Given the description of an element on the screen output the (x, y) to click on. 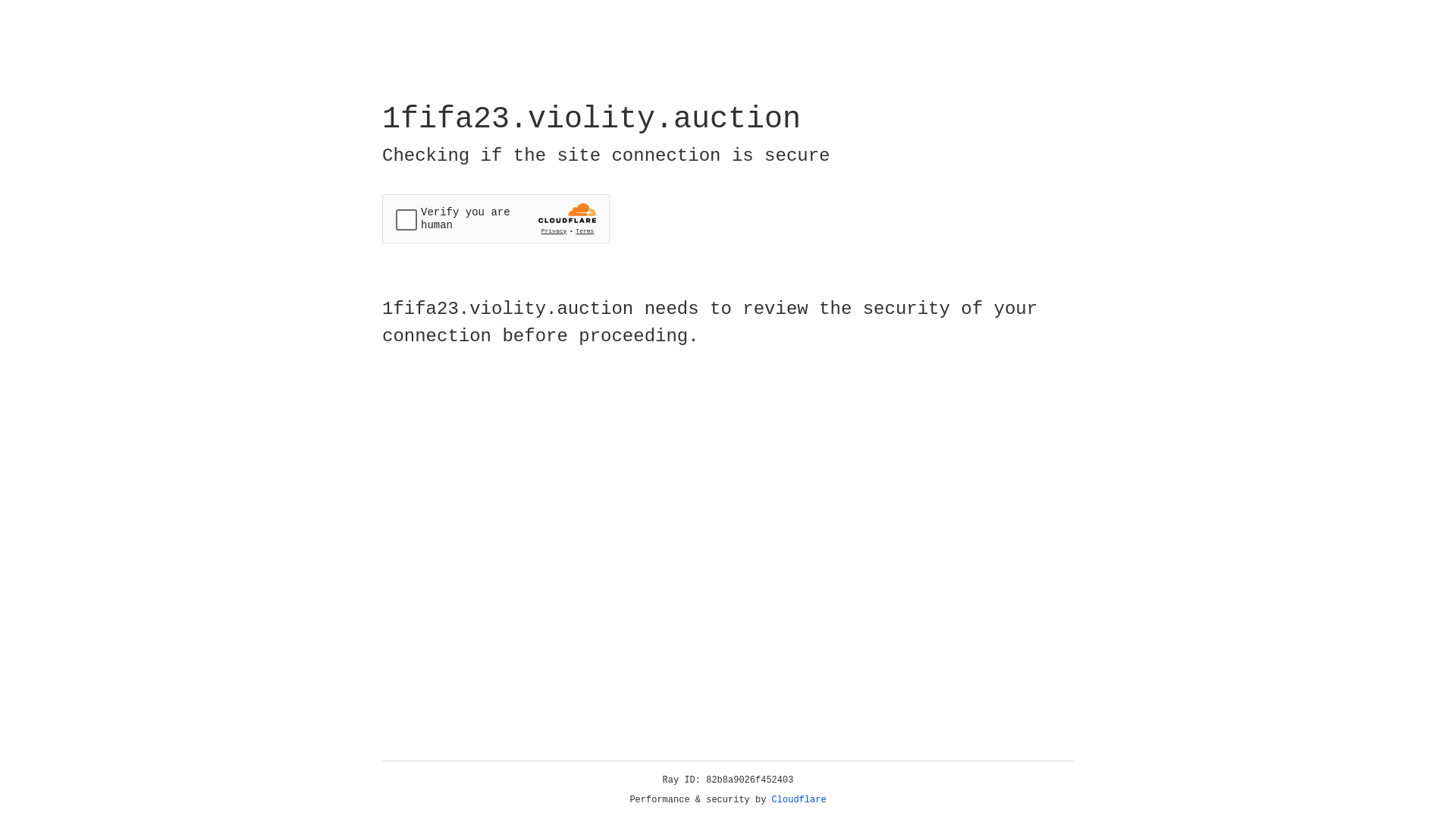
Cloudflare Element type: text (798, 799)
Widget containing a Cloudflare security challenge Element type: hover (495, 218)
